Given the description of an element on the screen output the (x, y) to click on. 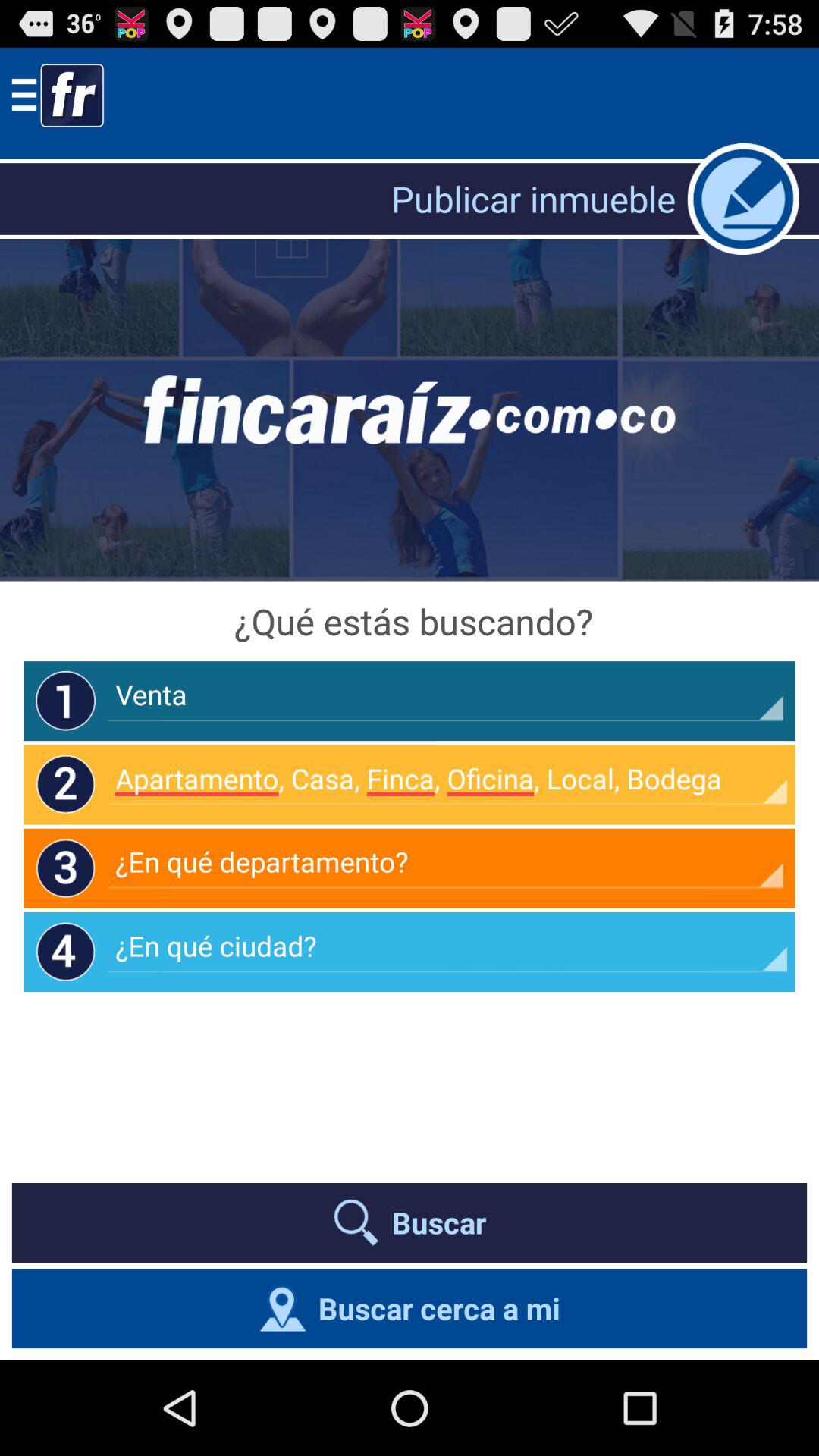
comments (743, 198)
